Given the description of an element on the screen output the (x, y) to click on. 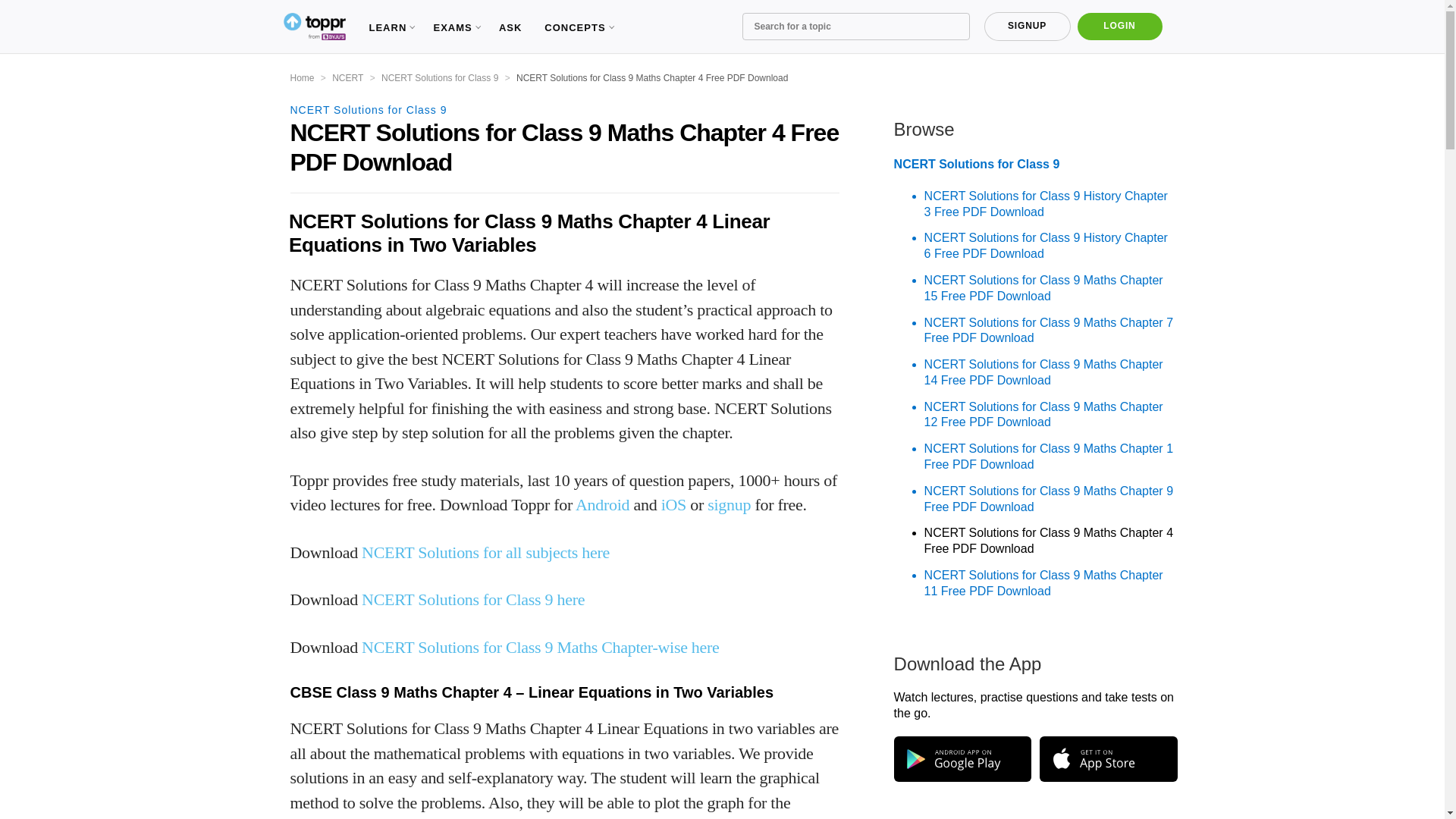
Toppr iOS App on App Store (1107, 759)
Toppr (314, 26)
Go to the Home (301, 77)
Go to the NCERT (346, 77)
Search for a topic (855, 26)
LEARN (389, 27)
Toppr Android App on Google Play (961, 759)
Go to the NCERT Solutions for Class 9 (439, 77)
